Given the description of an element on the screen output the (x, y) to click on. 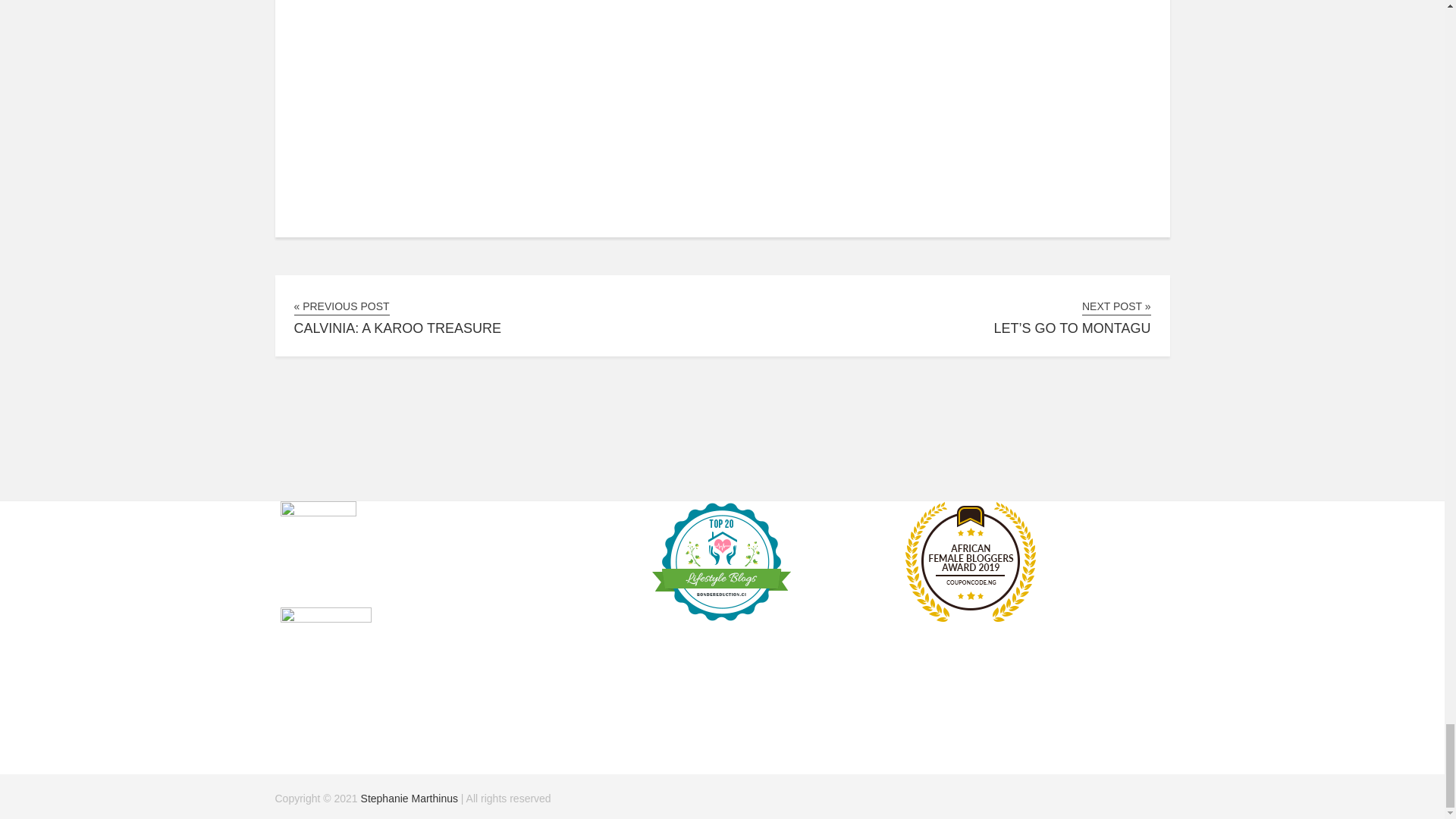
Banners for African Female Bloggers Award 2019 (970, 617)
Banners for Top 20 African Lifestyle Blogs (721, 617)
